Given the description of an element on the screen output the (x, y) to click on. 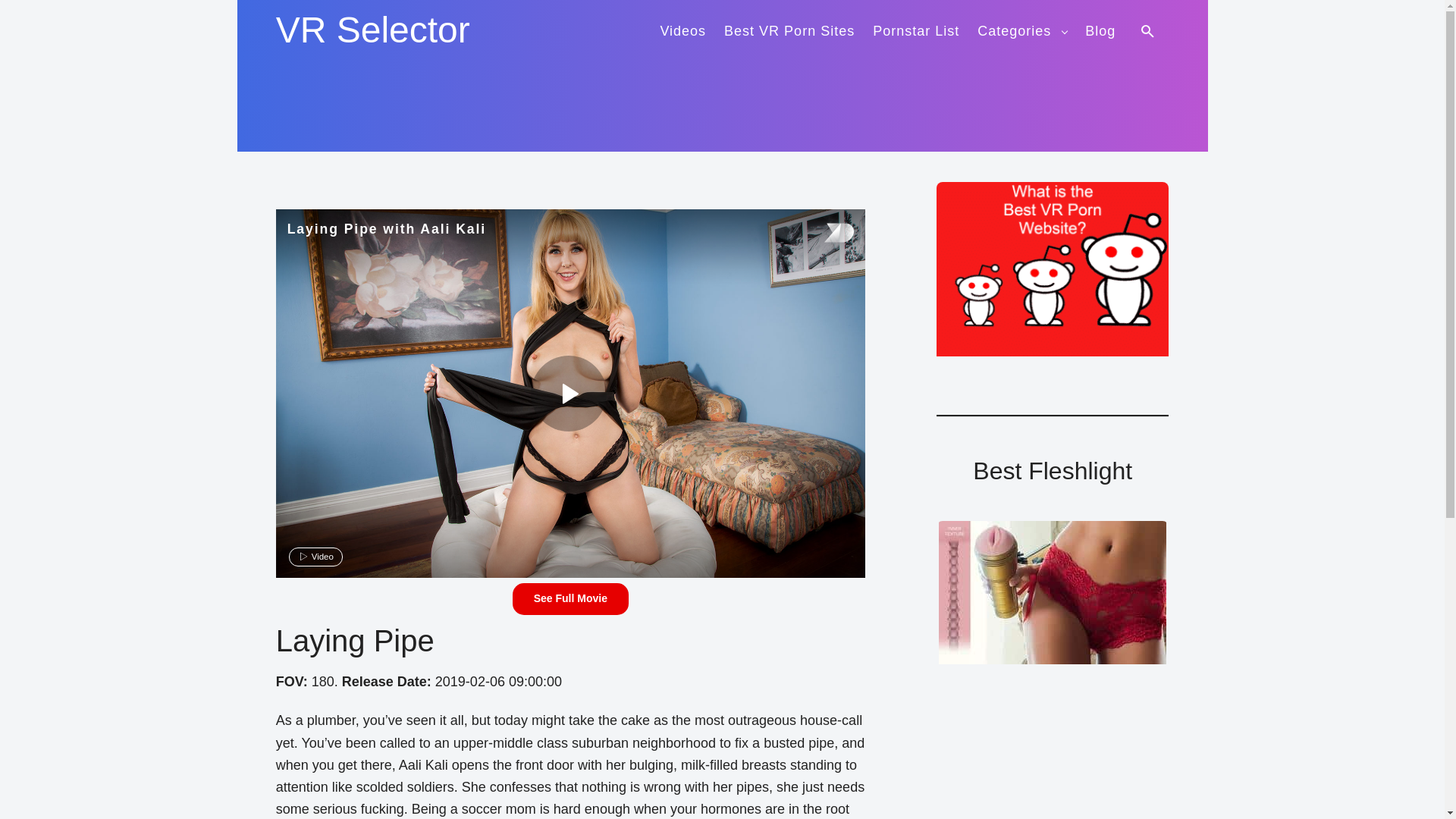
Pornstar List (915, 29)
Delight XR Player (819, 233)
VR Selector (373, 30)
Videos (682, 29)
Blog (1099, 29)
See Full Movie (570, 599)
Best VR Porn Sites (788, 29)
Categories (1022, 29)
vote best vr porn websites (1052, 268)
Laying Pipe with Aali Kali (569, 393)
Search (1150, 30)
